Given the description of an element on the screen output the (x, y) to click on. 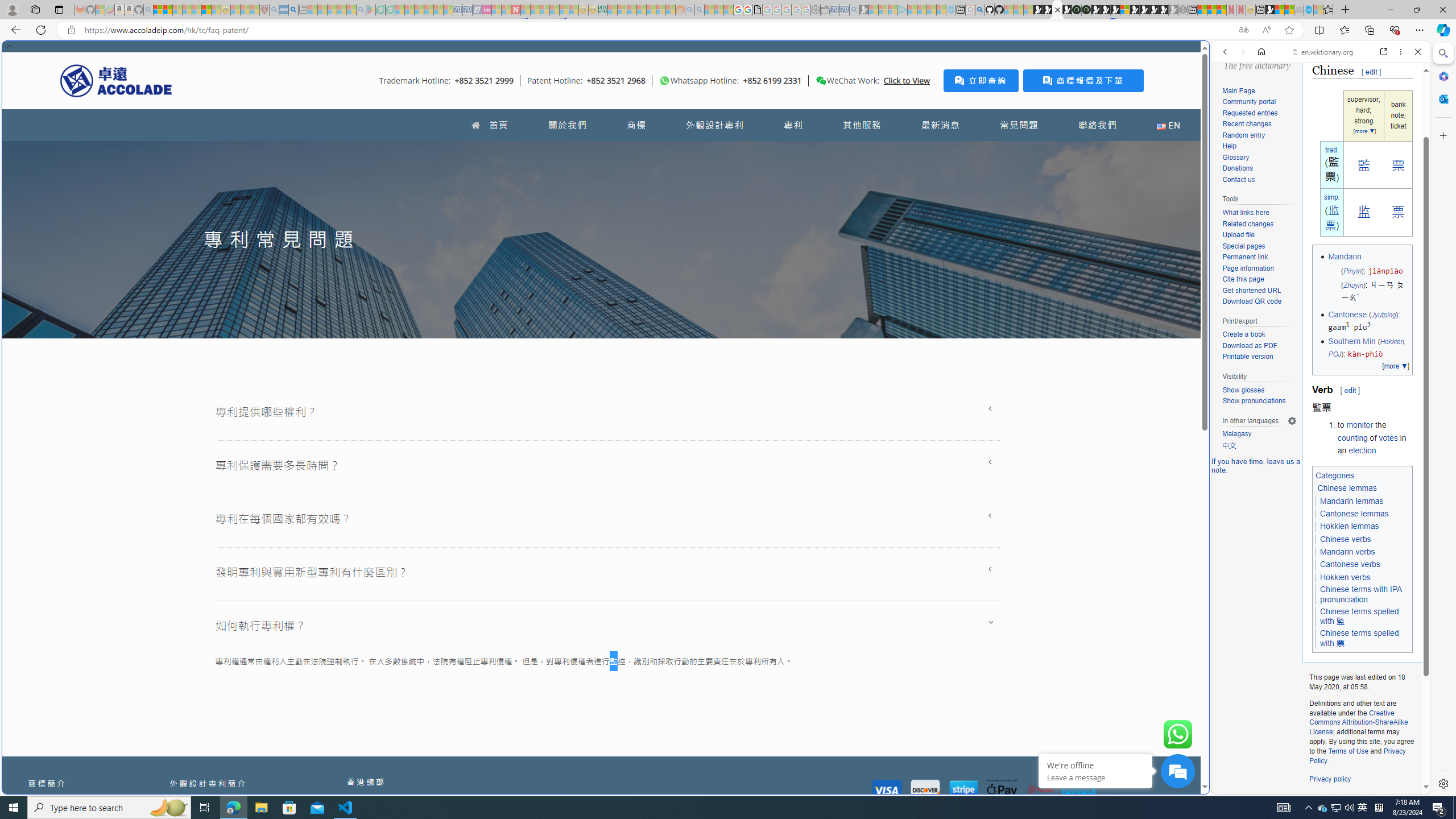
Create a book (1259, 334)
Cantonese (1347, 314)
simp. (1331, 197)
Terms of Use (1347, 750)
